Given the description of an element on the screen output the (x, y) to click on. 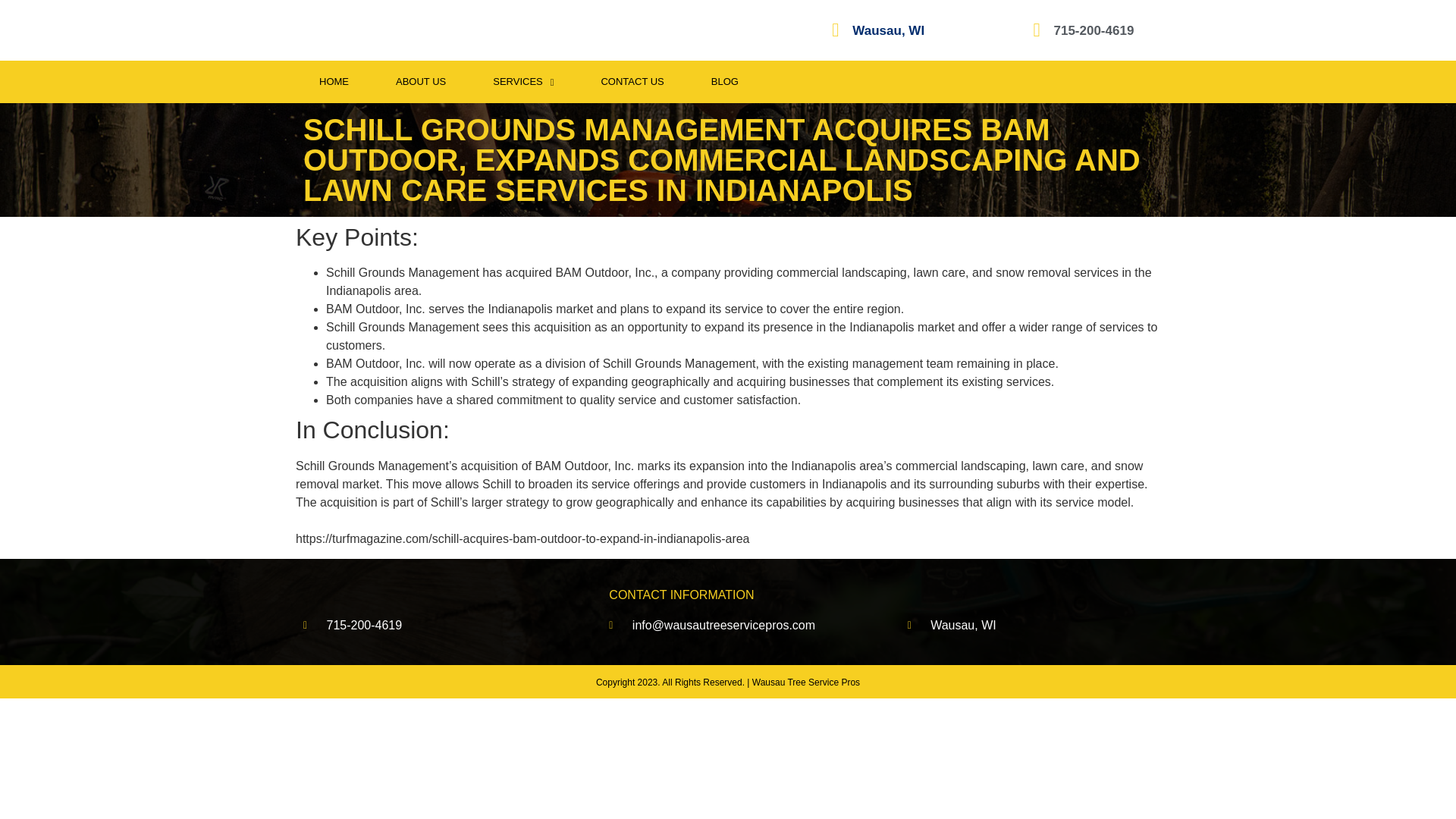
715-200-4619 (1093, 30)
715-200-4619 (425, 625)
CONTACT US (631, 81)
BLOG (724, 81)
SERVICES (522, 81)
HOME (333, 81)
ABOUT US (420, 81)
